Given the description of an element on the screen output the (x, y) to click on. 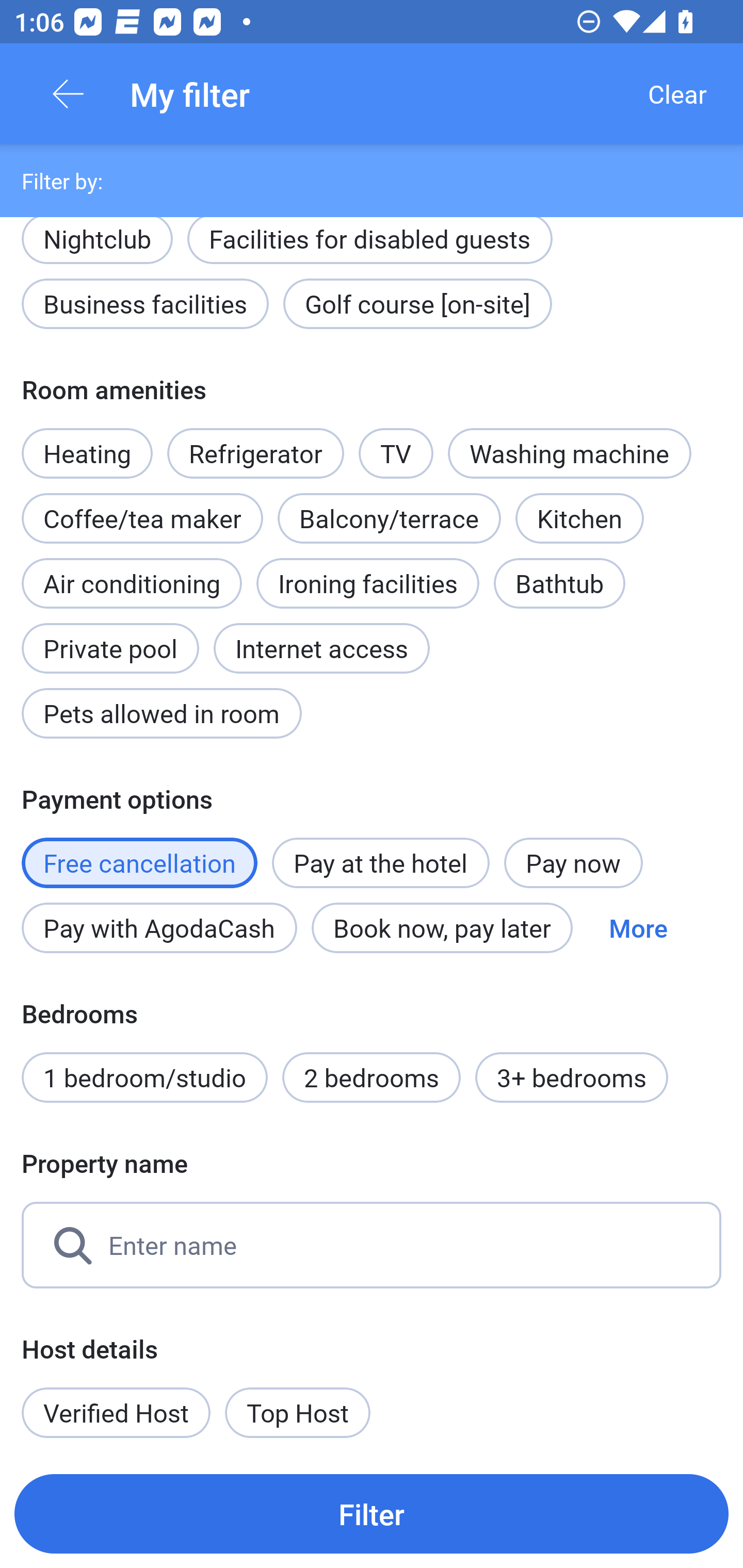
Clear (676, 93)
Nightclub (97, 238)
Facilities for disabled guests (369, 249)
Business facilities (144, 303)
Golf course [on-site] (417, 303)
Heating (87, 442)
Refrigerator (255, 453)
TV (395, 442)
Washing machine (569, 453)
Coffee/tea maker (142, 518)
Balcony/terrace (388, 518)
Kitchen (579, 518)
Air conditioning (131, 583)
Ironing facilities (367, 583)
Bathtub (559, 583)
Private pool (110, 637)
Internet access (321, 648)
Pets allowed in room (161, 713)
Pay at the hotel (380, 863)
Pay now (572, 863)
Pay with AgodaCash (159, 927)
Book now, pay later (441, 927)
More (637, 927)
1 bedroom/studio (144, 1077)
2 bedrooms (371, 1077)
3+ bedrooms (571, 1077)
Enter name (371, 1244)
Verified Host (115, 1412)
Top Host (297, 1412)
Filter (371, 1513)
